Given the description of an element on the screen output the (x, y) to click on. 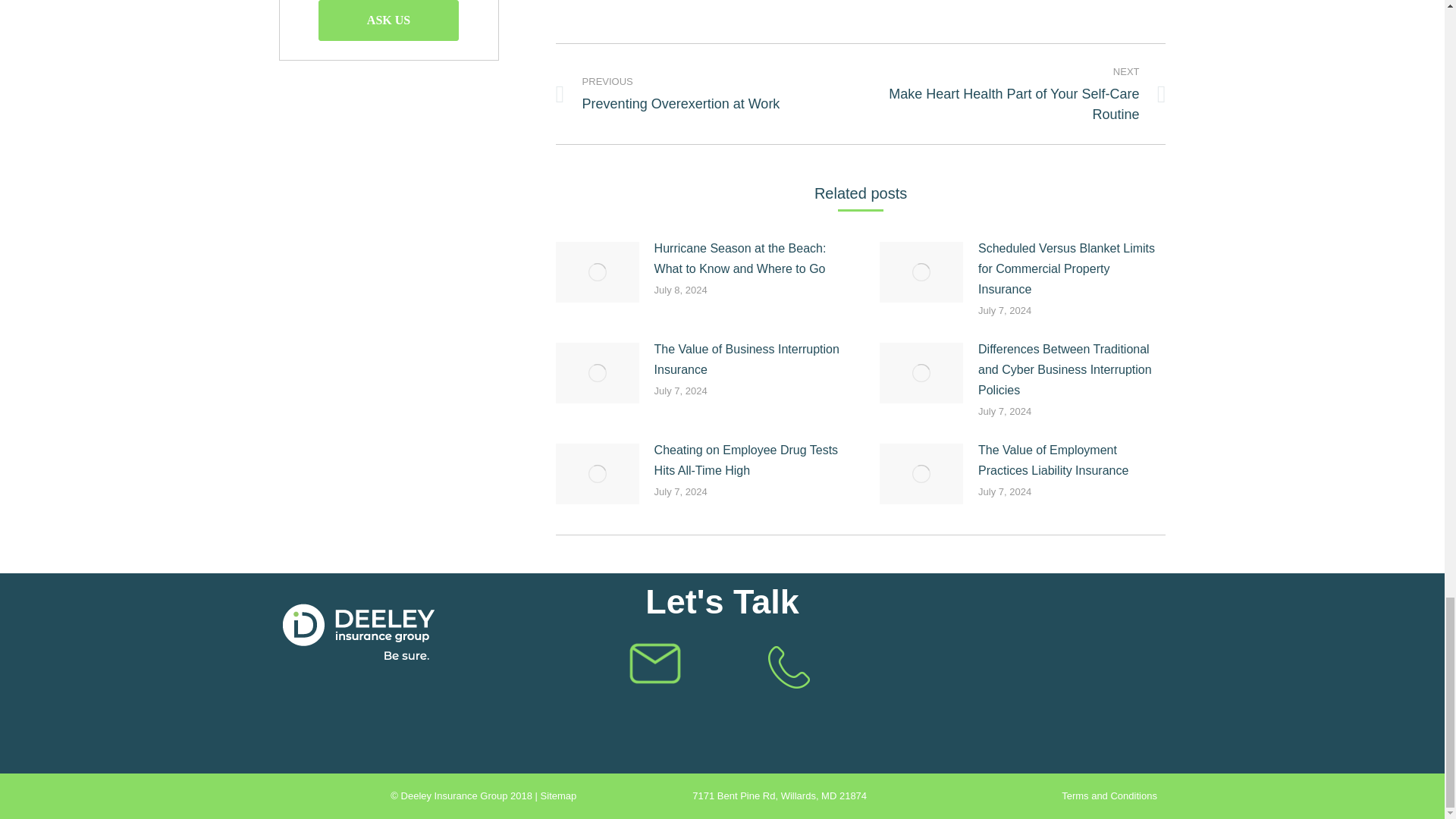
email (654, 663)
